Given the description of an element on the screen output the (x, y) to click on. 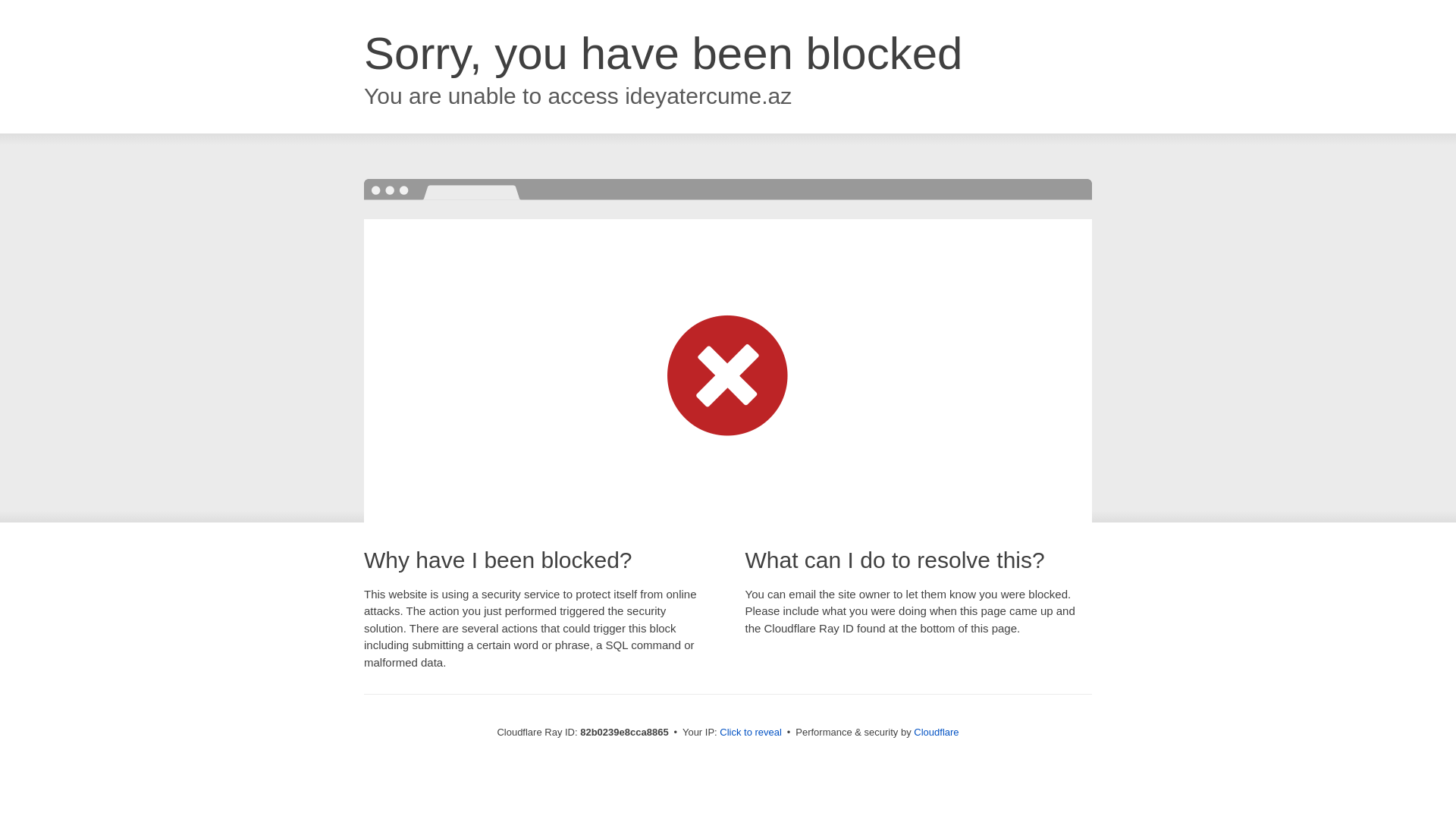
Cloudflare Element type: text (935, 731)
Click to reveal Element type: text (750, 732)
